Given the description of an element on the screen output the (x, y) to click on. 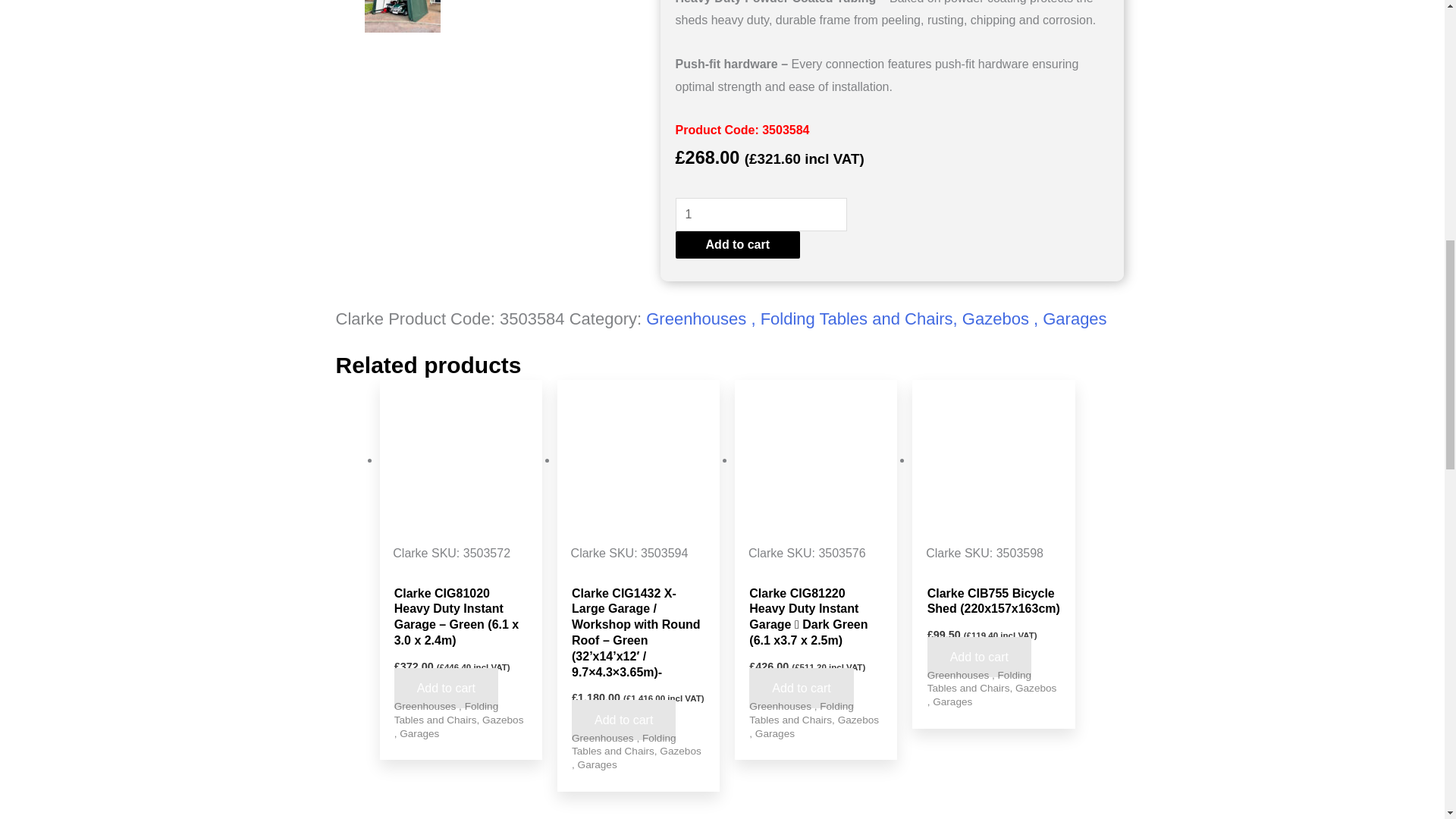
1 (761, 214)
Add to cart (445, 688)
Add to cart (737, 244)
Add to cart (801, 688)
Add to cart (623, 720)
Greenhouses , Folding Tables and Chairs, Gazebos , Garages (876, 318)
